Given the description of an element on the screen output the (x, y) to click on. 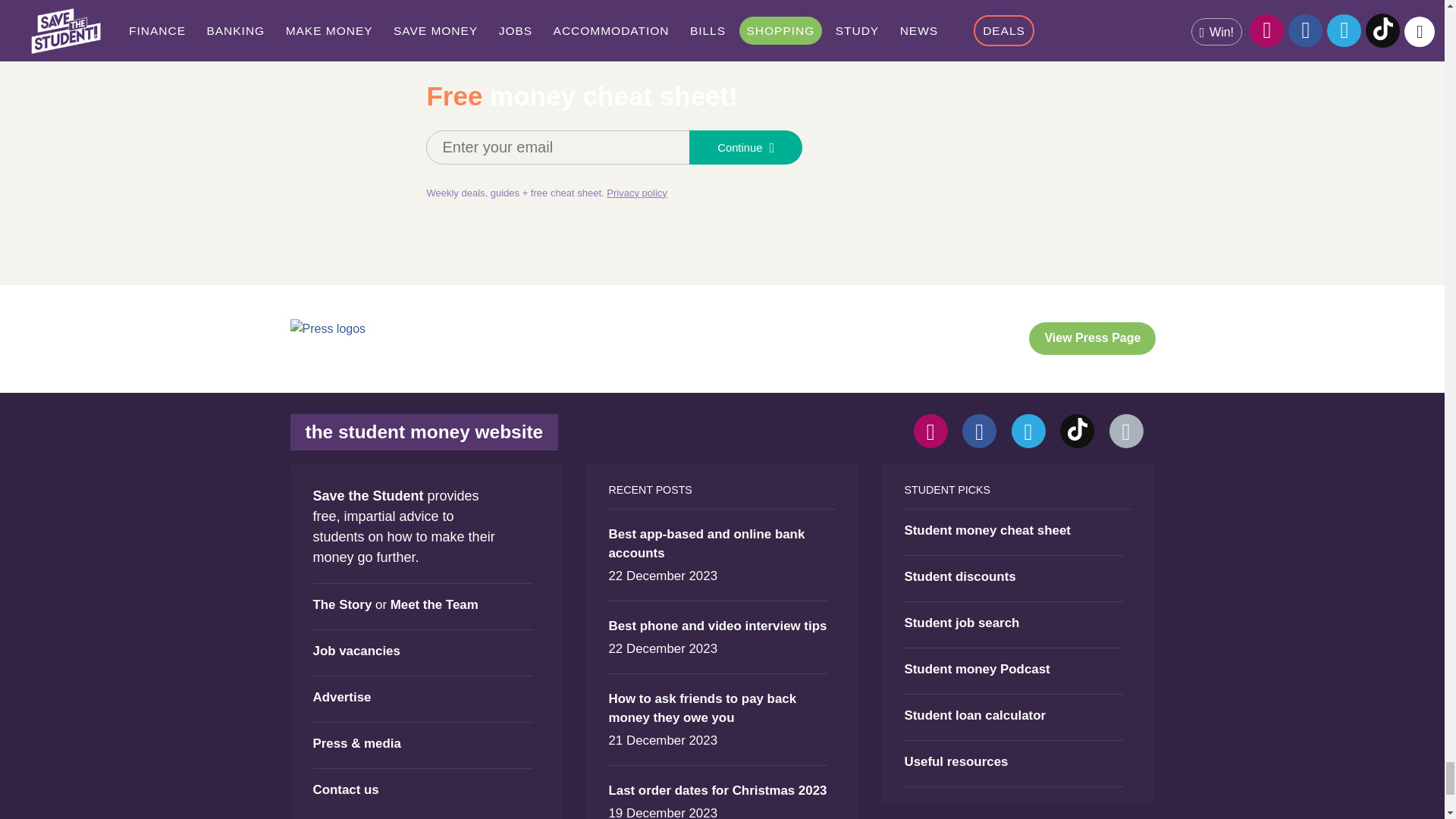
Contact us (1125, 430)
